Given the description of an element on the screen output the (x, y) to click on. 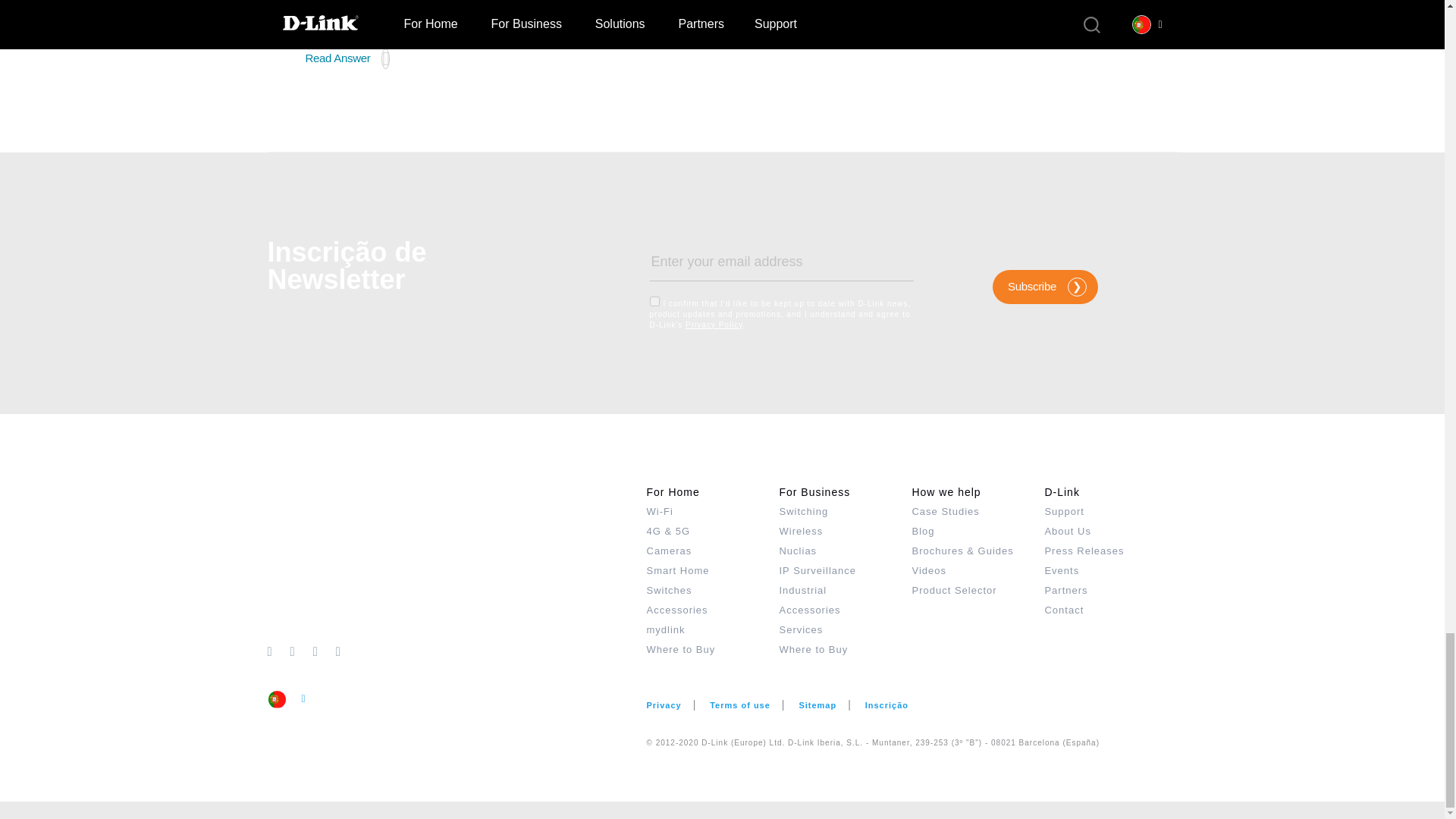
D-Link (456, 561)
True (654, 301)
